Given the description of an element on the screen output the (x, y) to click on. 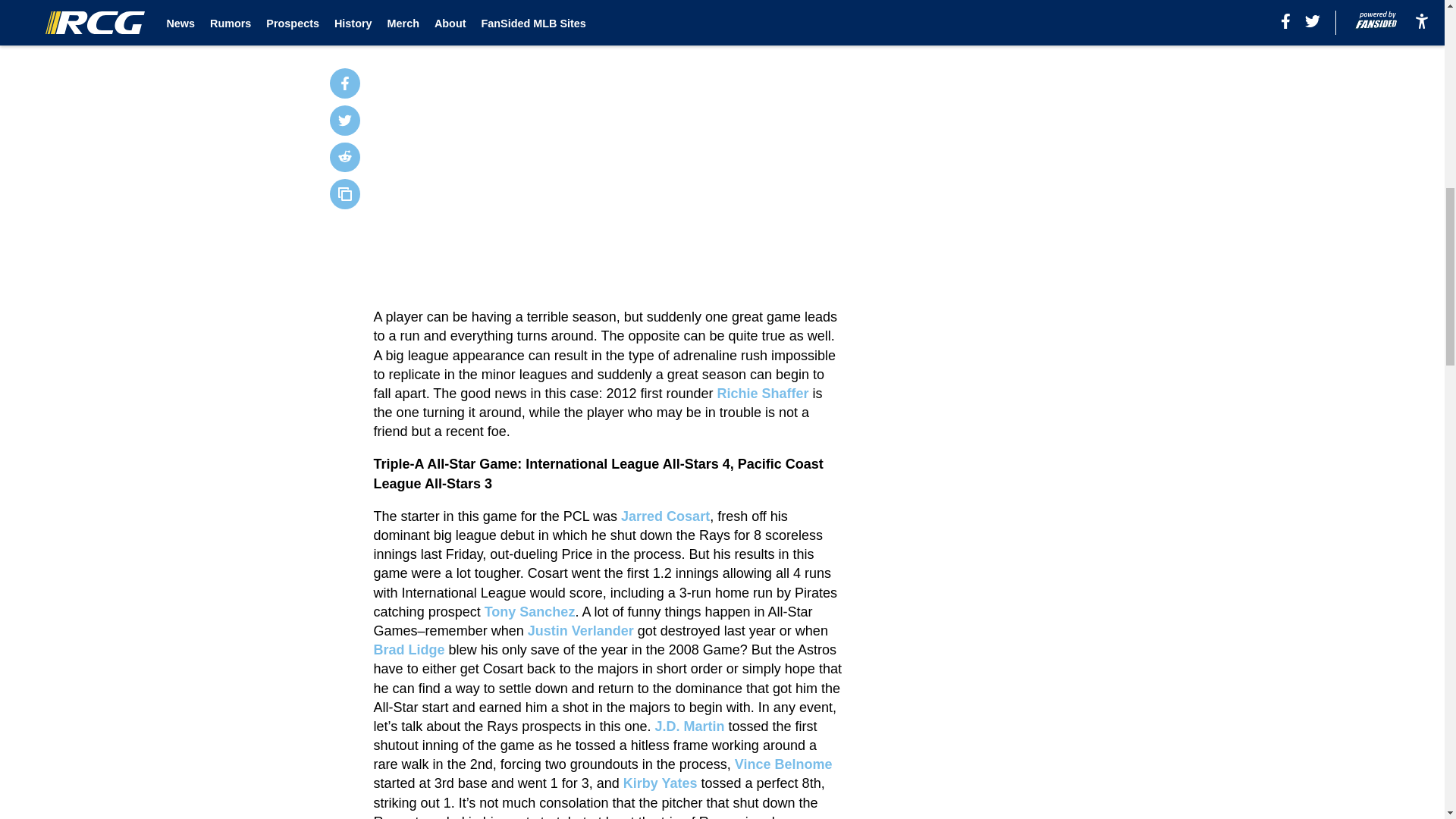
Brad Lidge (409, 649)
J.D. Martin (688, 726)
Vince Belnome (783, 764)
Richie Shaffer (763, 393)
Jarred Cosart (665, 516)
Justin Verlander (580, 630)
Kirby Yates (660, 783)
Tony Sanchez (529, 611)
